Given the description of an element on the screen output the (x, y) to click on. 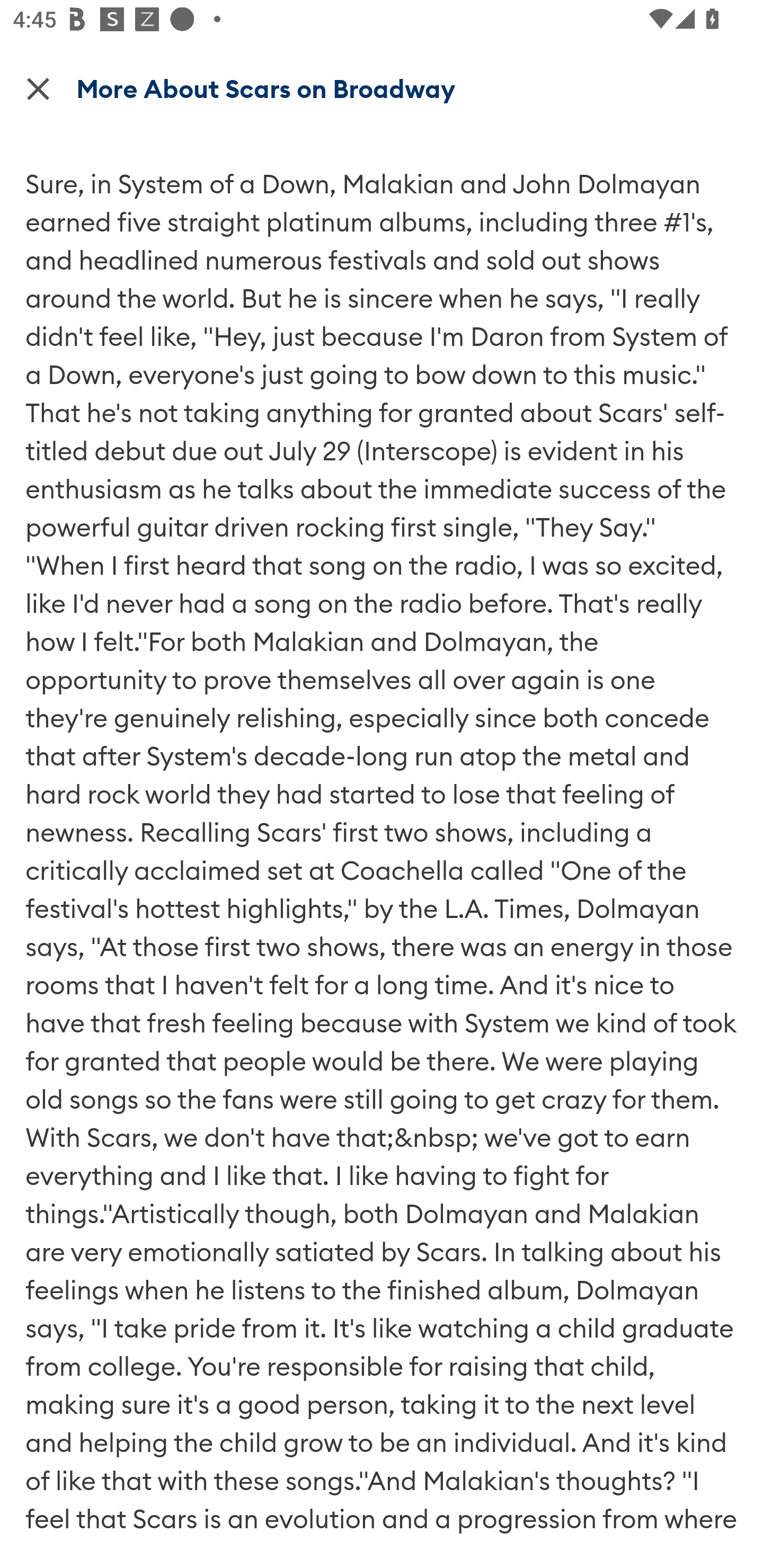
Close (38, 88)
